Given the description of an element on the screen output the (x, y) to click on. 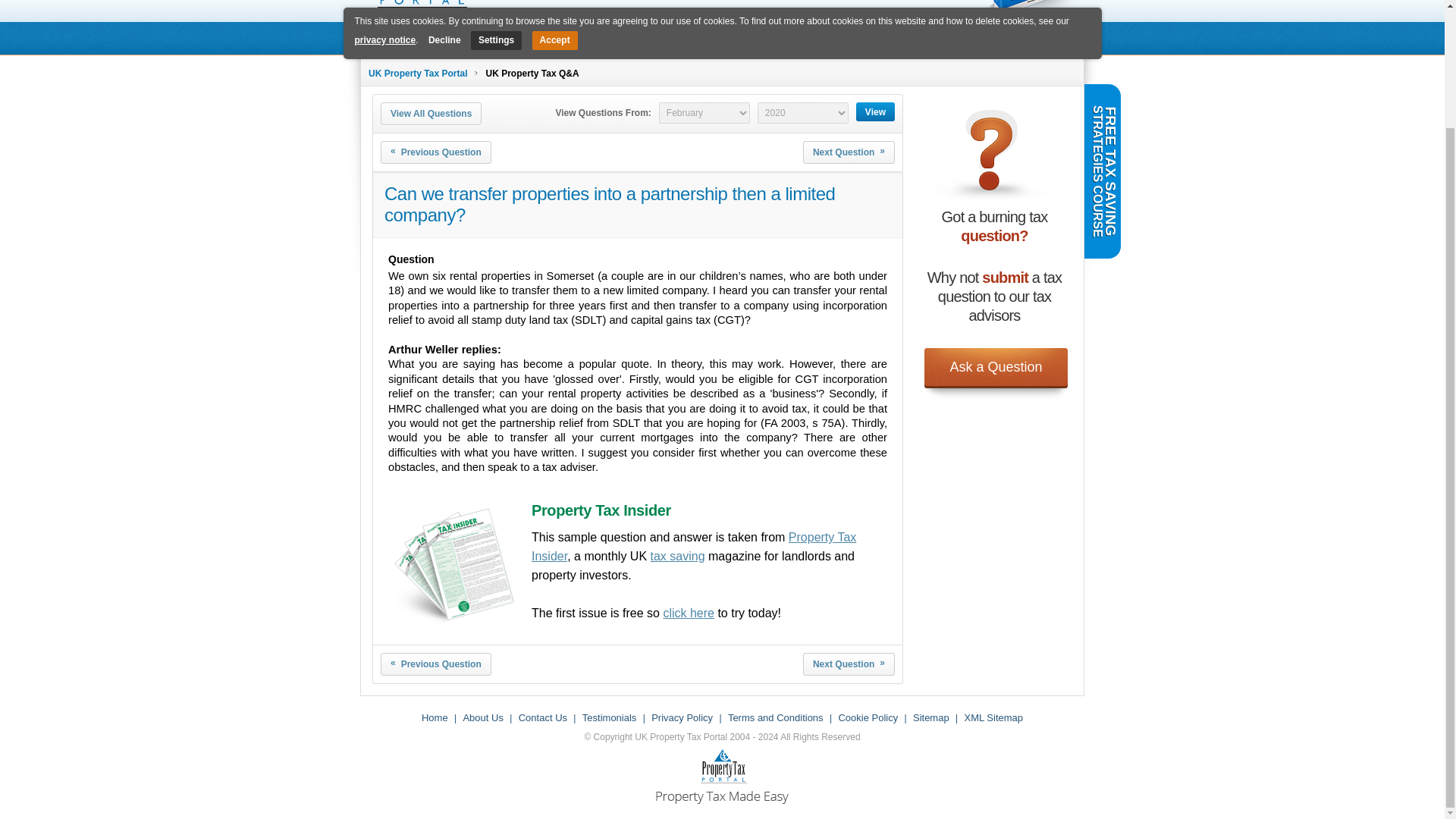
Cookie Policy (868, 717)
Contact us (867, 37)
Tax Books (462, 37)
Sitemap (930, 717)
Privacy Policy (681, 717)
Home (390, 37)
View (875, 111)
XML Sitemap (993, 717)
UK Property Tax Portal (417, 73)
Contact Us (542, 717)
